Given the description of an element on the screen output the (x, y) to click on. 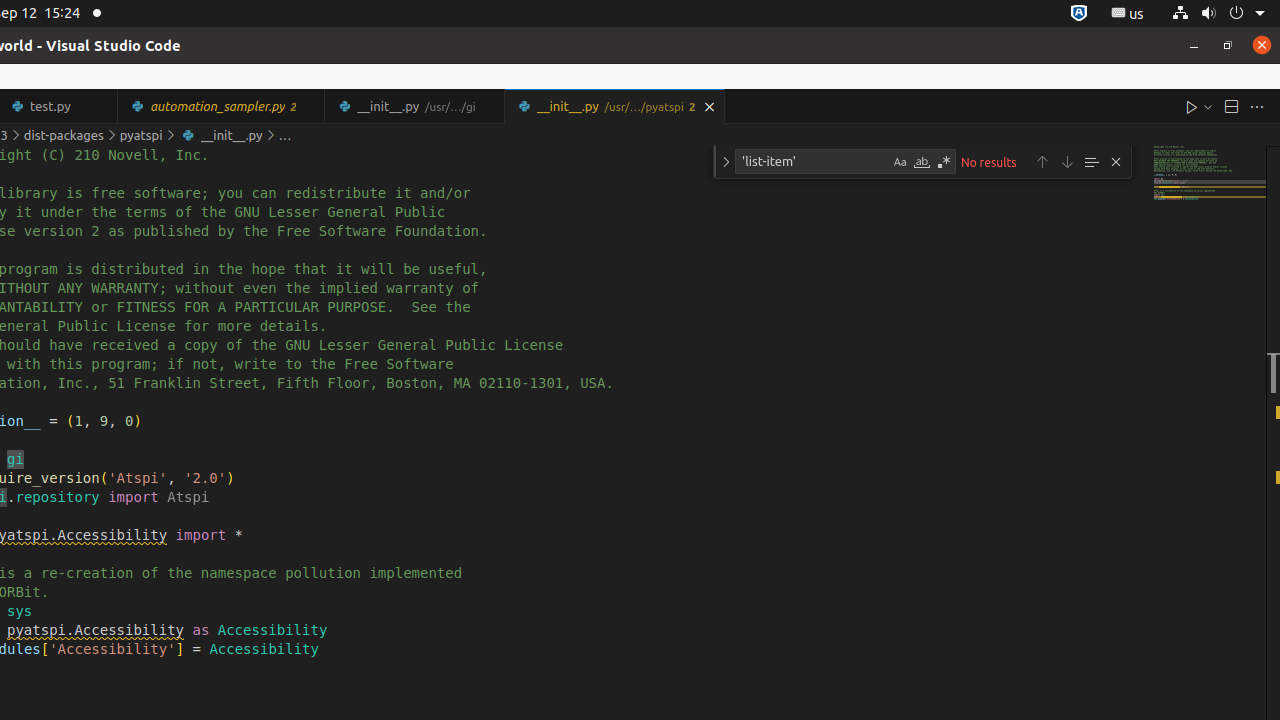
Find in Selection (Alt+L) Element type: check-box (1091, 161)
Use Regular Expression (Alt+R) Element type: check-box (944, 162)
Run Python File Element type: push-button (1192, 106)
Close (Escape) Element type: push-button (1116, 162)
